Given the description of an element on the screen output the (x, y) to click on. 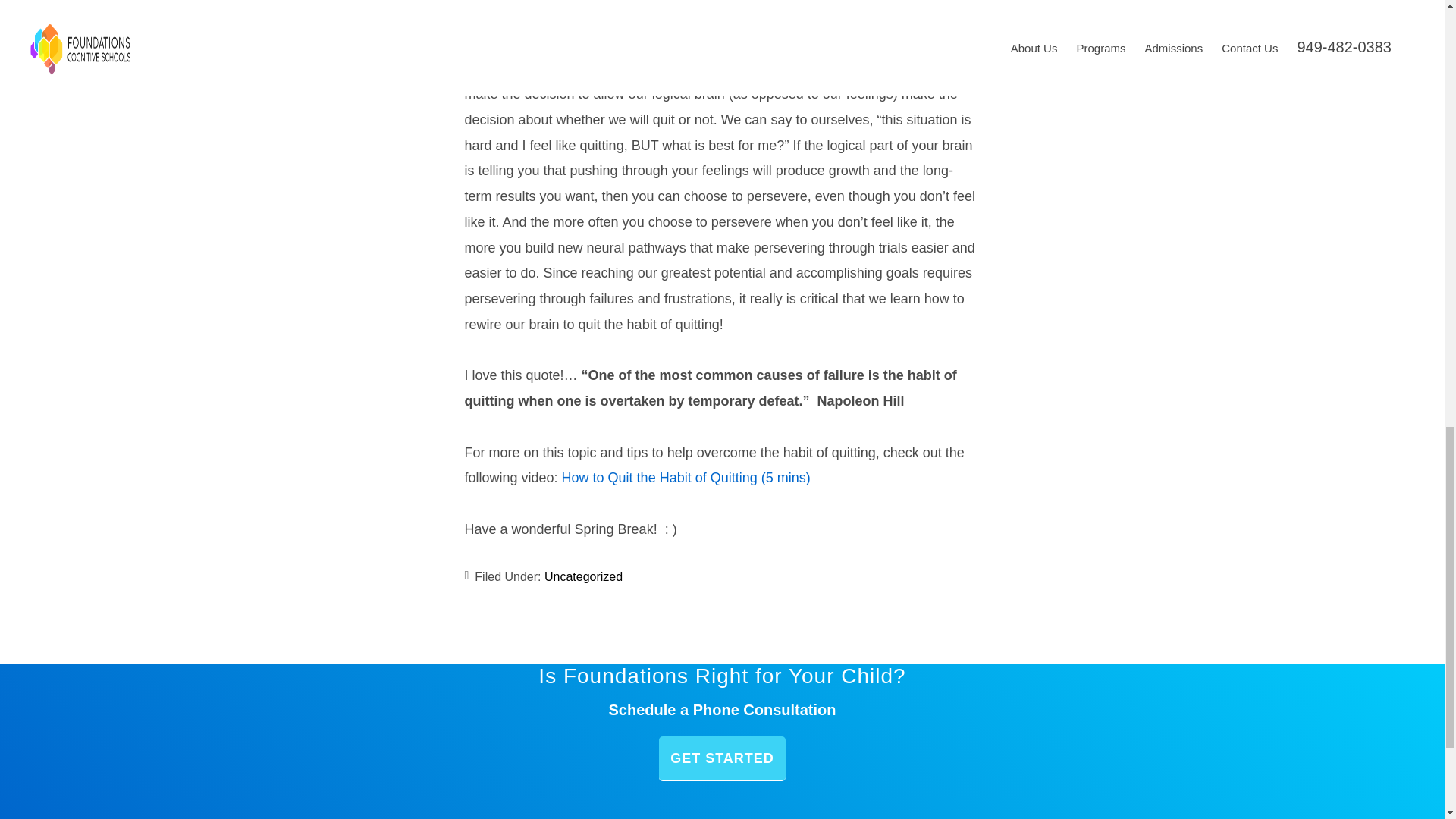
Uncategorized (583, 576)
GET STARTED (722, 758)
